Given the description of an element on the screen output the (x, y) to click on. 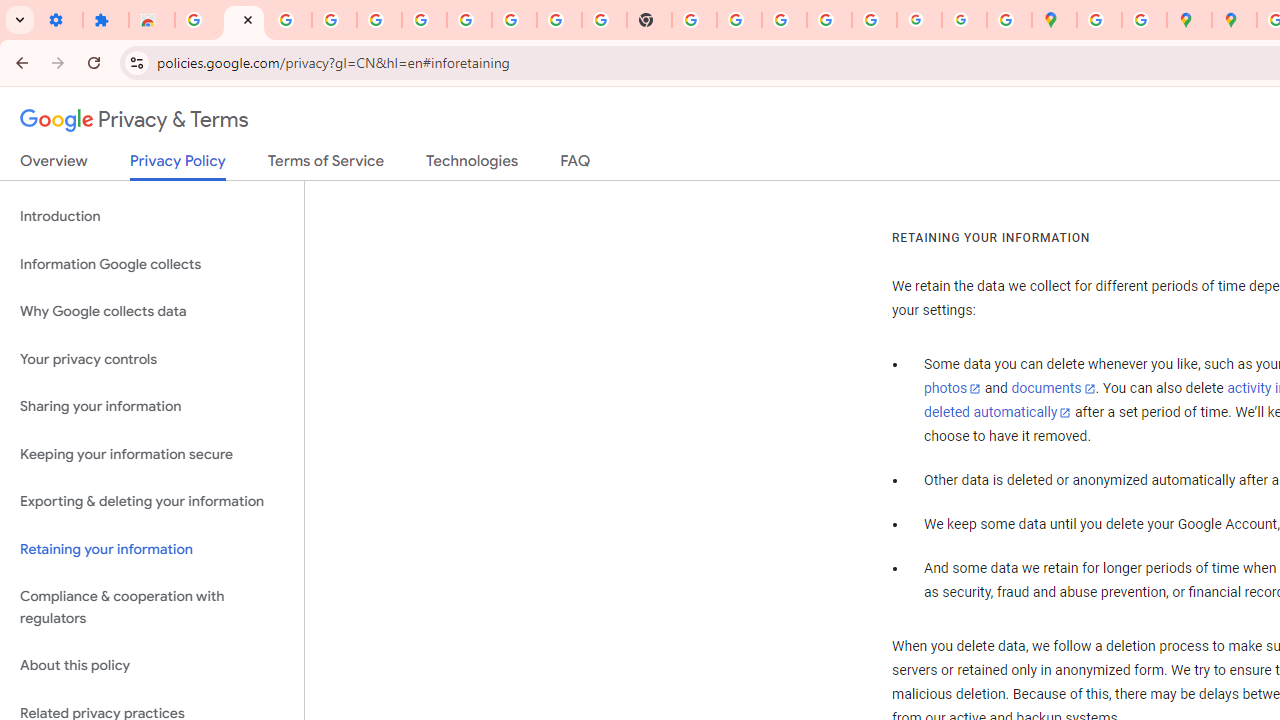
Your privacy controls (152, 358)
Delete photos & videos - Computer - Google Photos Help (289, 20)
documents (1053, 389)
Google Maps (1053, 20)
About this policy (152, 666)
New Tab (649, 20)
